Given the description of an element on the screen output the (x, y) to click on. 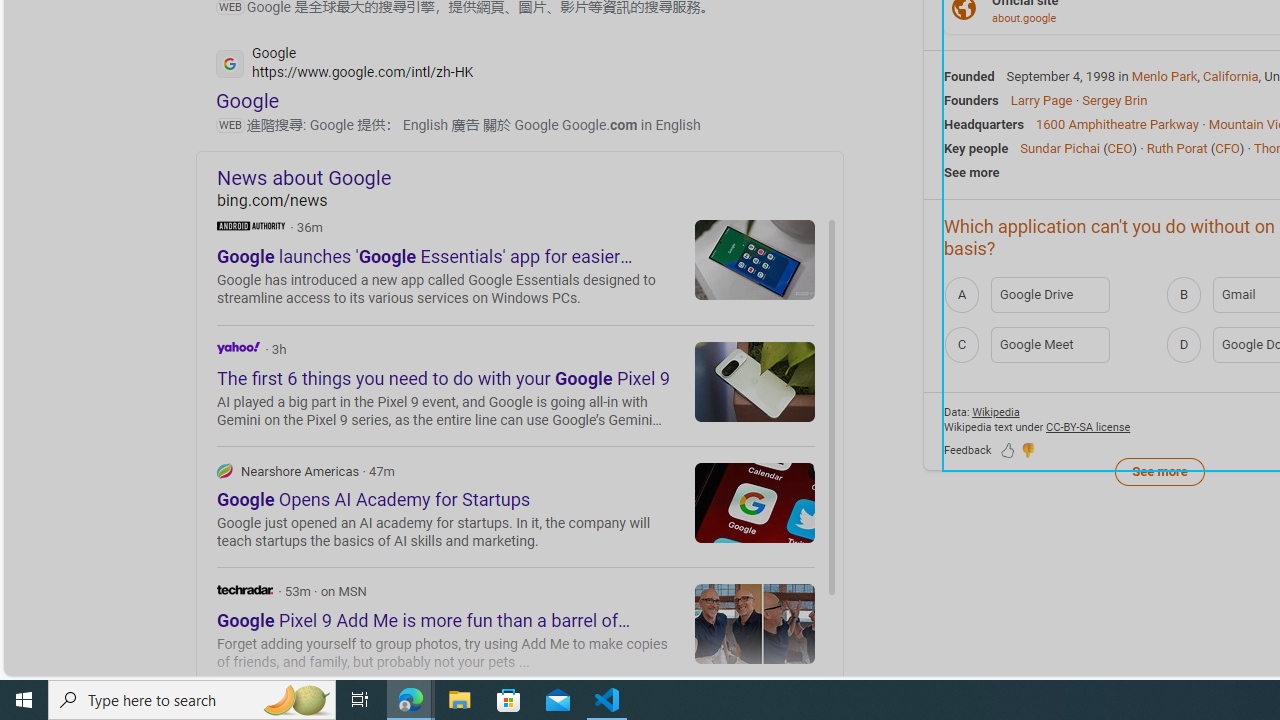
Microsoft Edge - 2 running windows (411, 699)
